Given the description of an element on the screen output the (x, y) to click on. 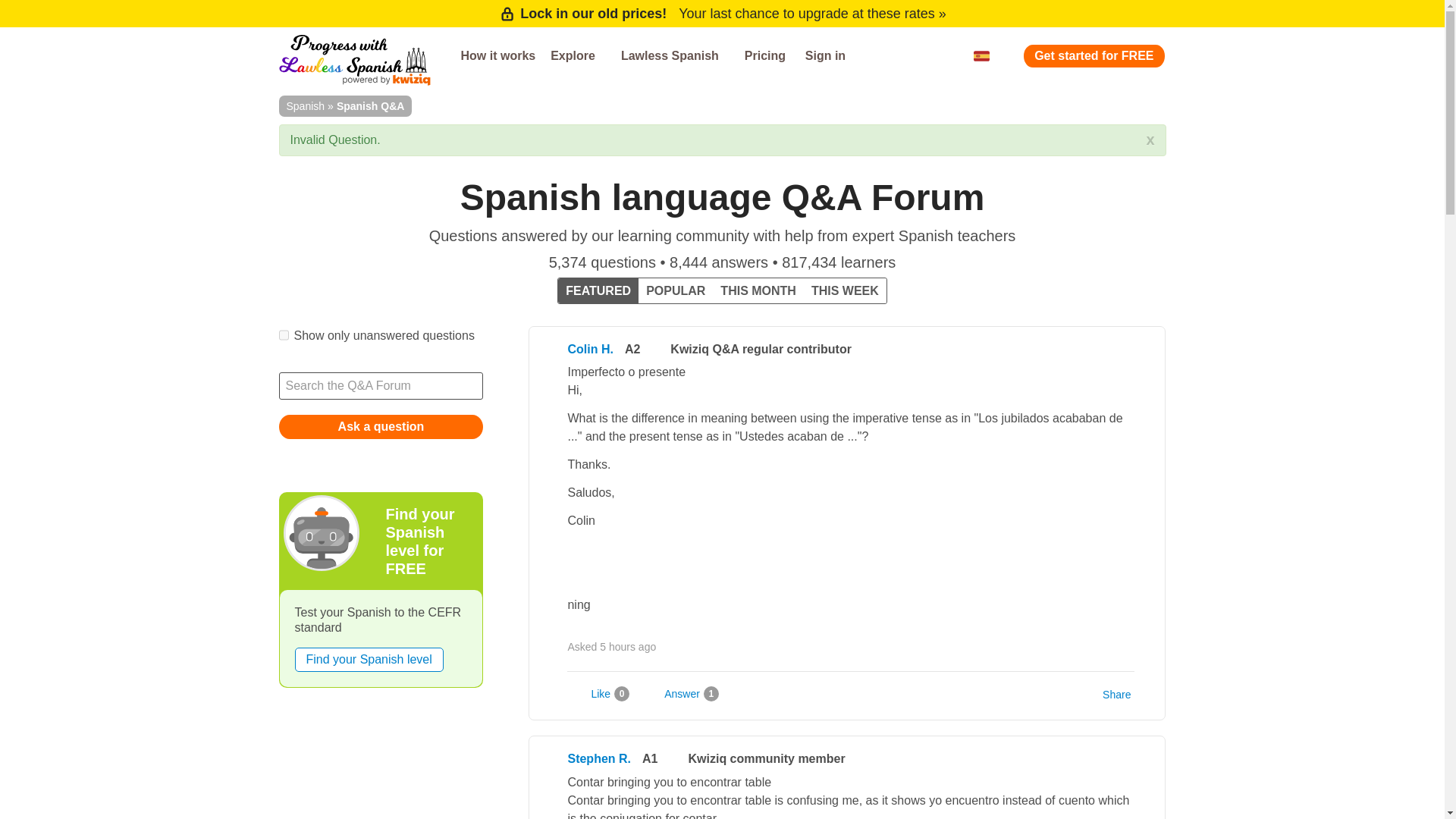
How it works (497, 56)
Explore (577, 56)
18th July 2024 (627, 646)
Lawless Spanish (674, 56)
